Given the description of an element on the screen output the (x, y) to click on. 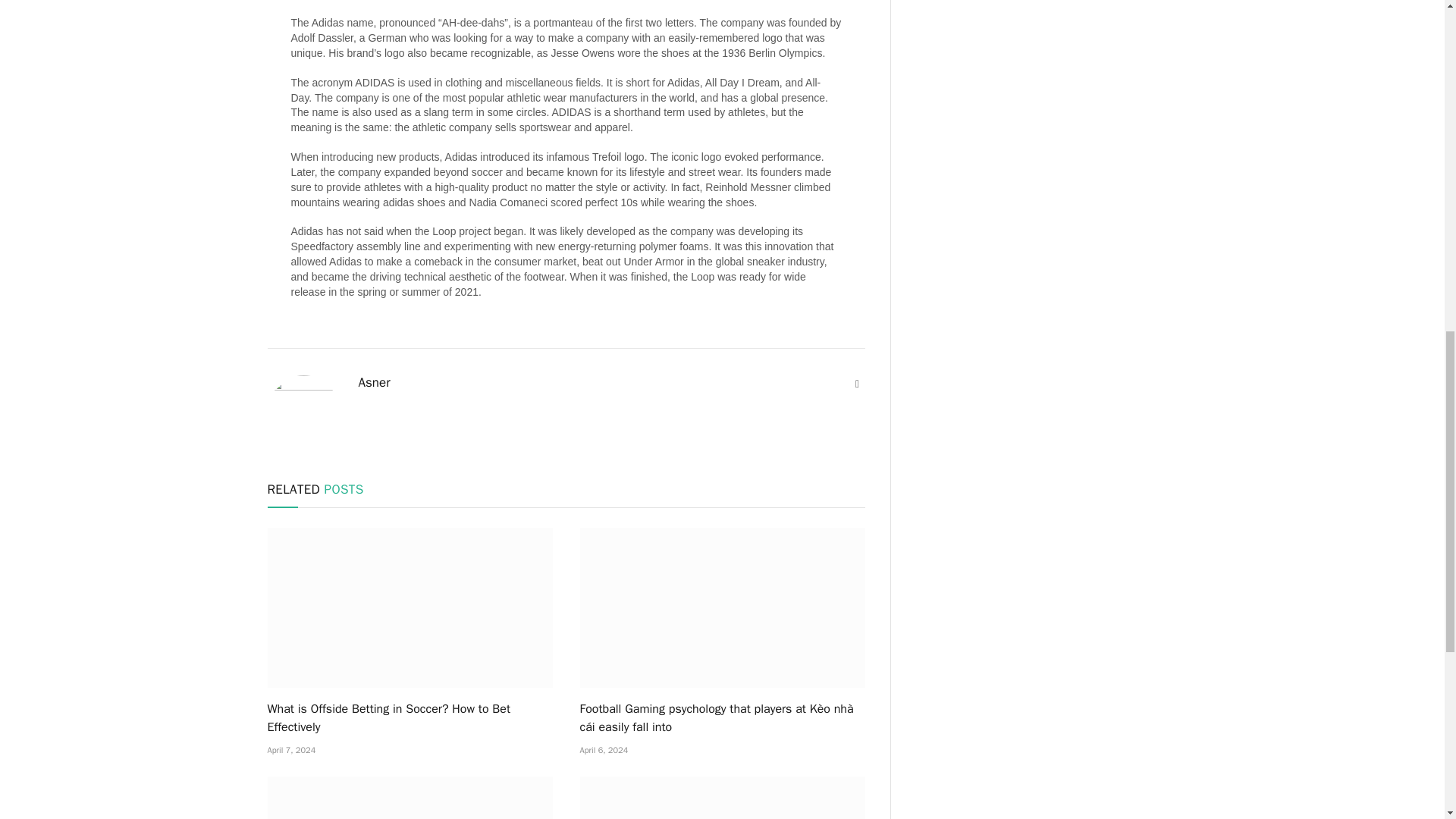
Website (856, 384)
What is Offside Betting in Soccer? How to Bet Effectively (408, 718)
Asner (374, 382)
